Given the description of an element on the screen output the (x, y) to click on. 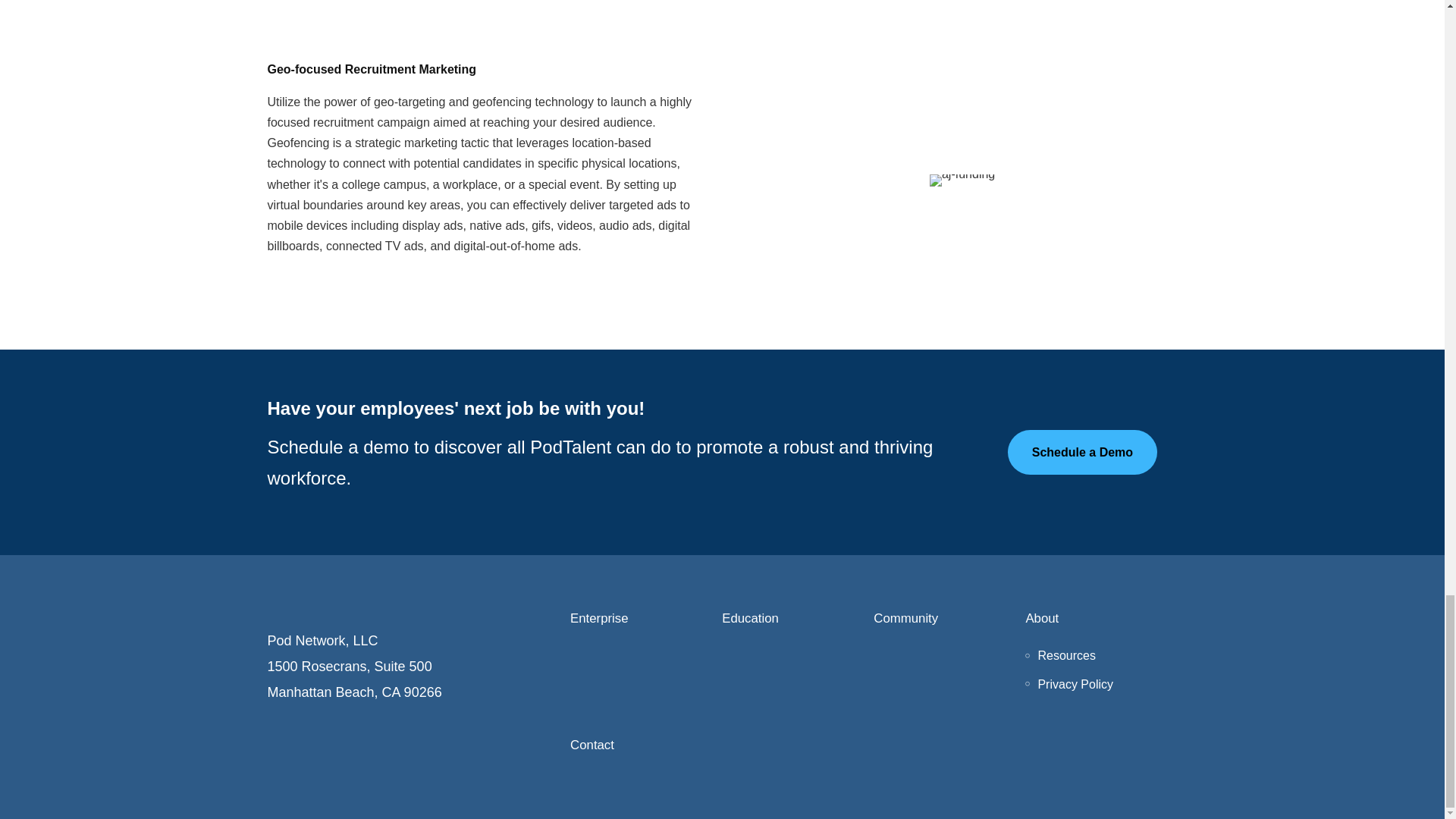
Contact (867, 745)
Education (791, 618)
Privacy Policy (1074, 684)
aj-funding (962, 180)
Community (943, 618)
Resources (1065, 655)
About (1094, 618)
Enterprise (640, 618)
Schedule a Demo (1082, 452)
